Given the description of an element on the screen output the (x, y) to click on. 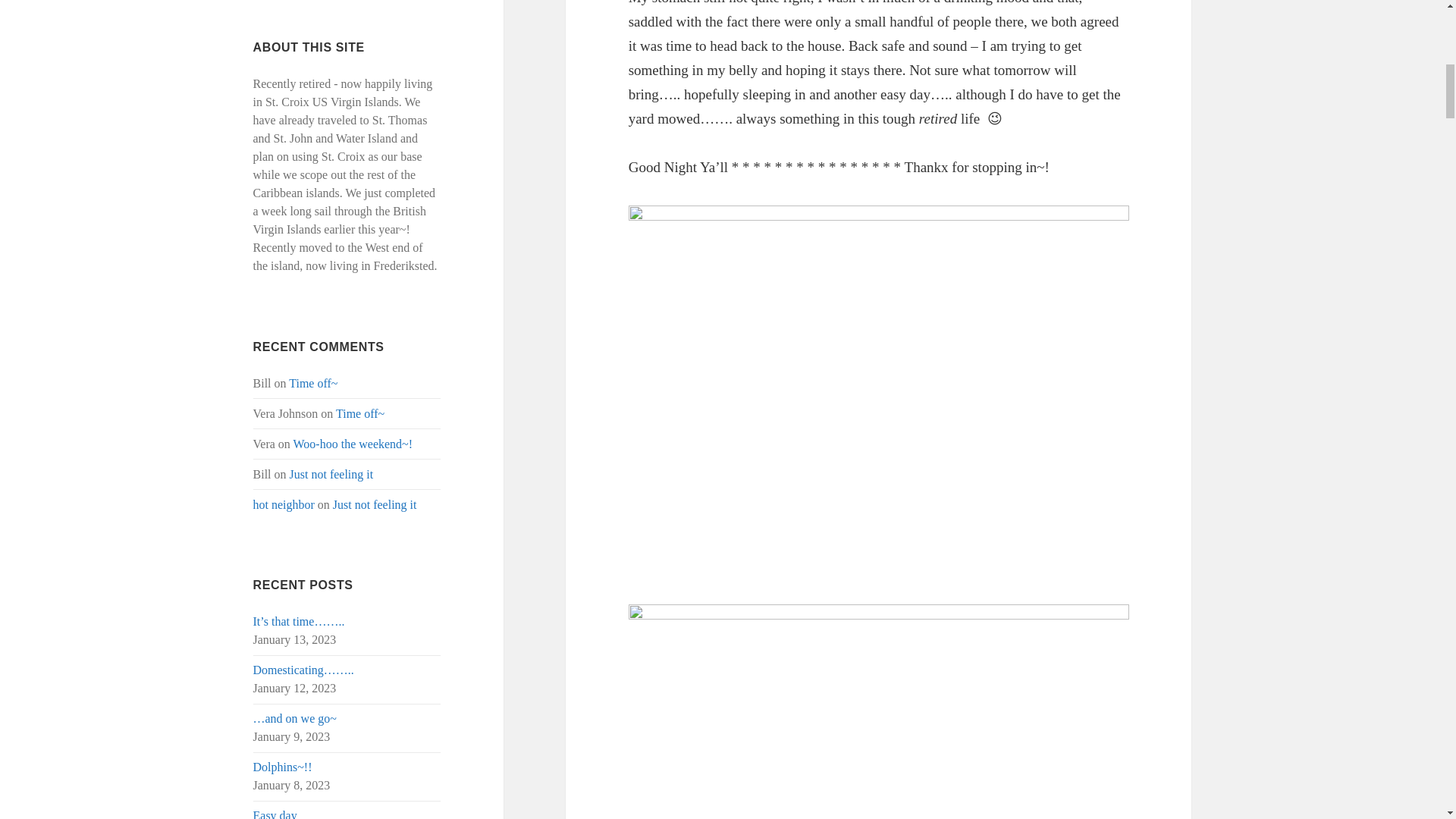
Easy day (275, 814)
Just not feeling it (331, 473)
hot neighbor (283, 504)
Just not feeling it (374, 504)
